Given the description of an element on the screen output the (x, y) to click on. 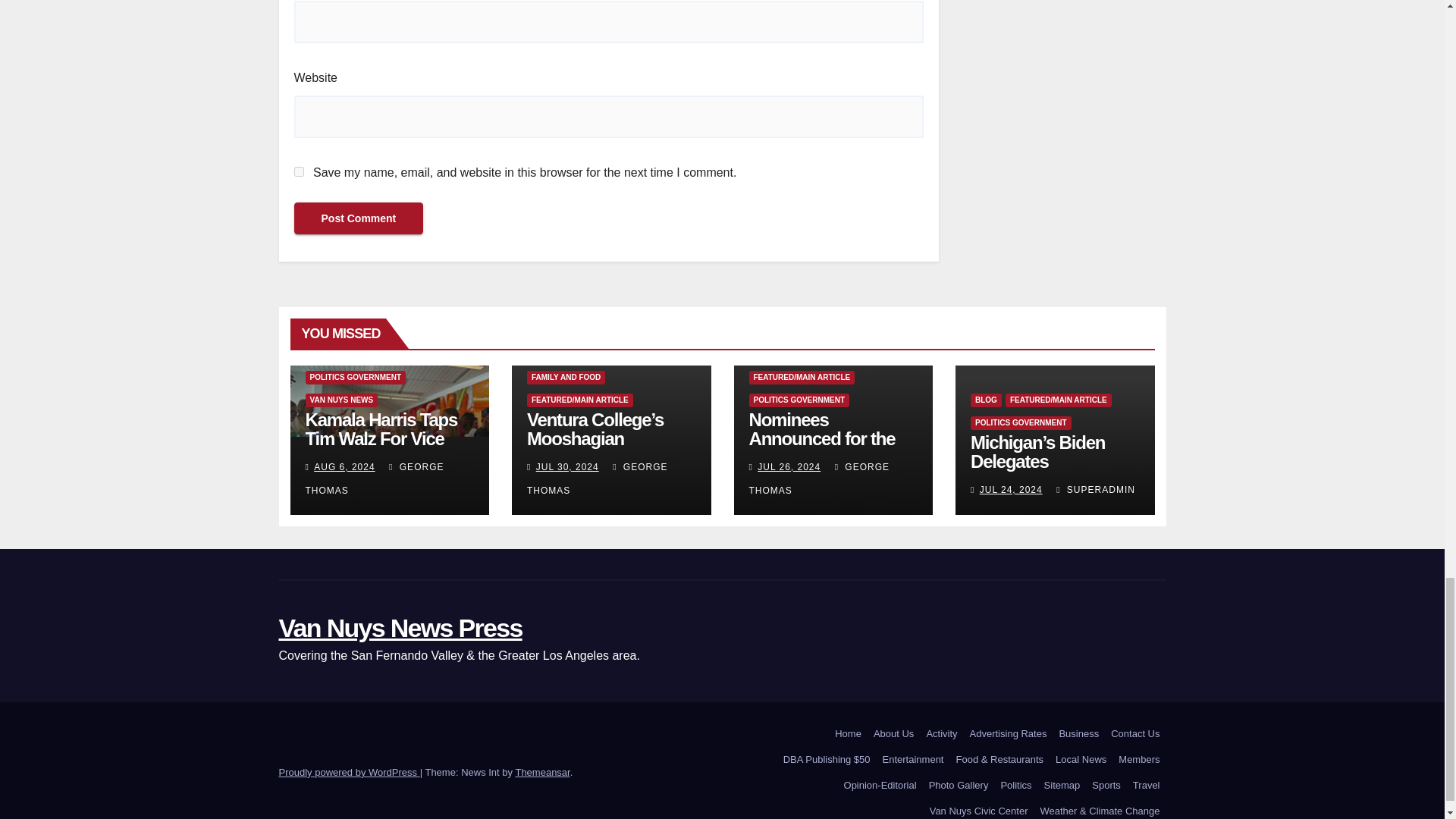
Post Comment (358, 218)
yes (299, 171)
Home (847, 733)
